Given the description of an element on the screen output the (x, y) to click on. 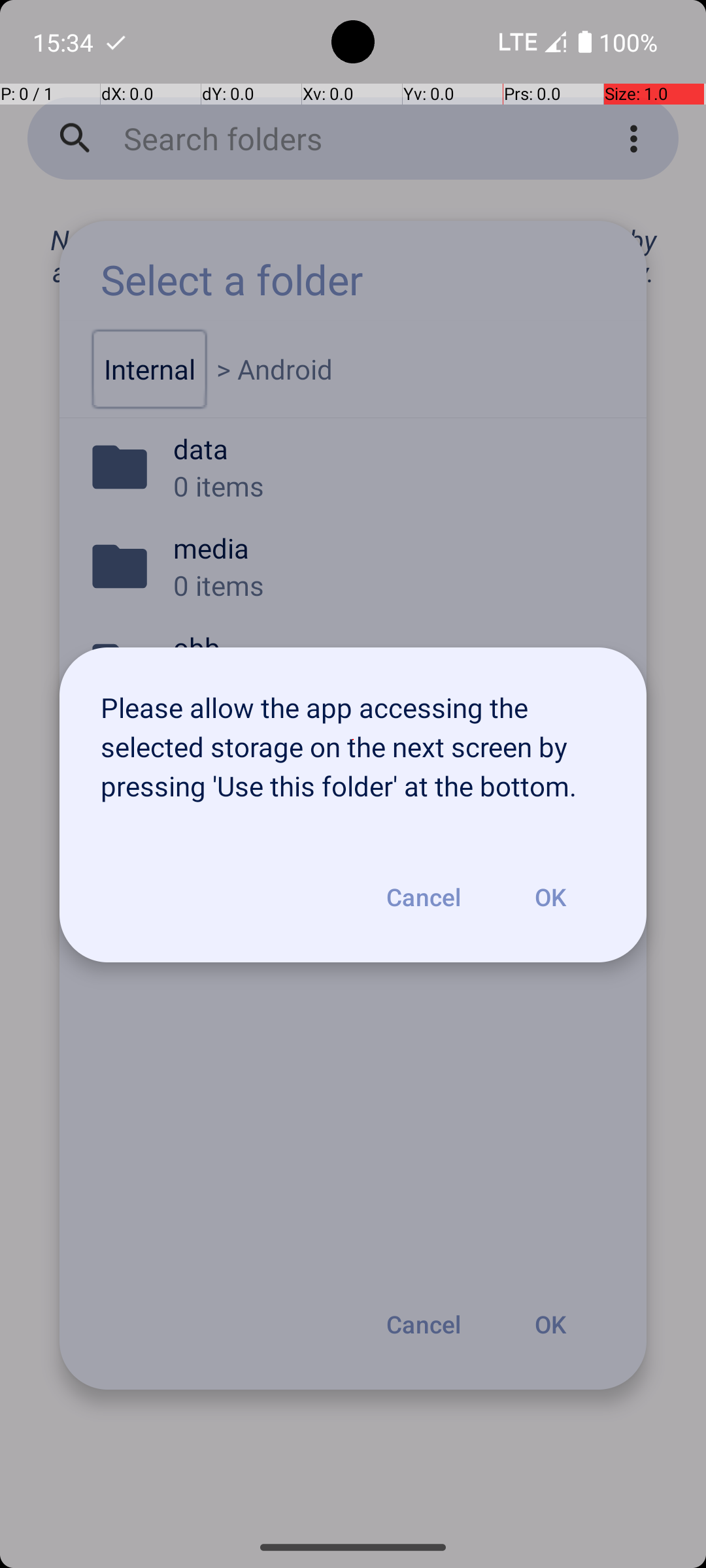
Please allow the app accessing the selected storage on the next screen by pressing 'Use this folder' at the bottom. Element type: android.widget.TextView (352, 739)
